Given the description of an element on the screen output the (x, y) to click on. 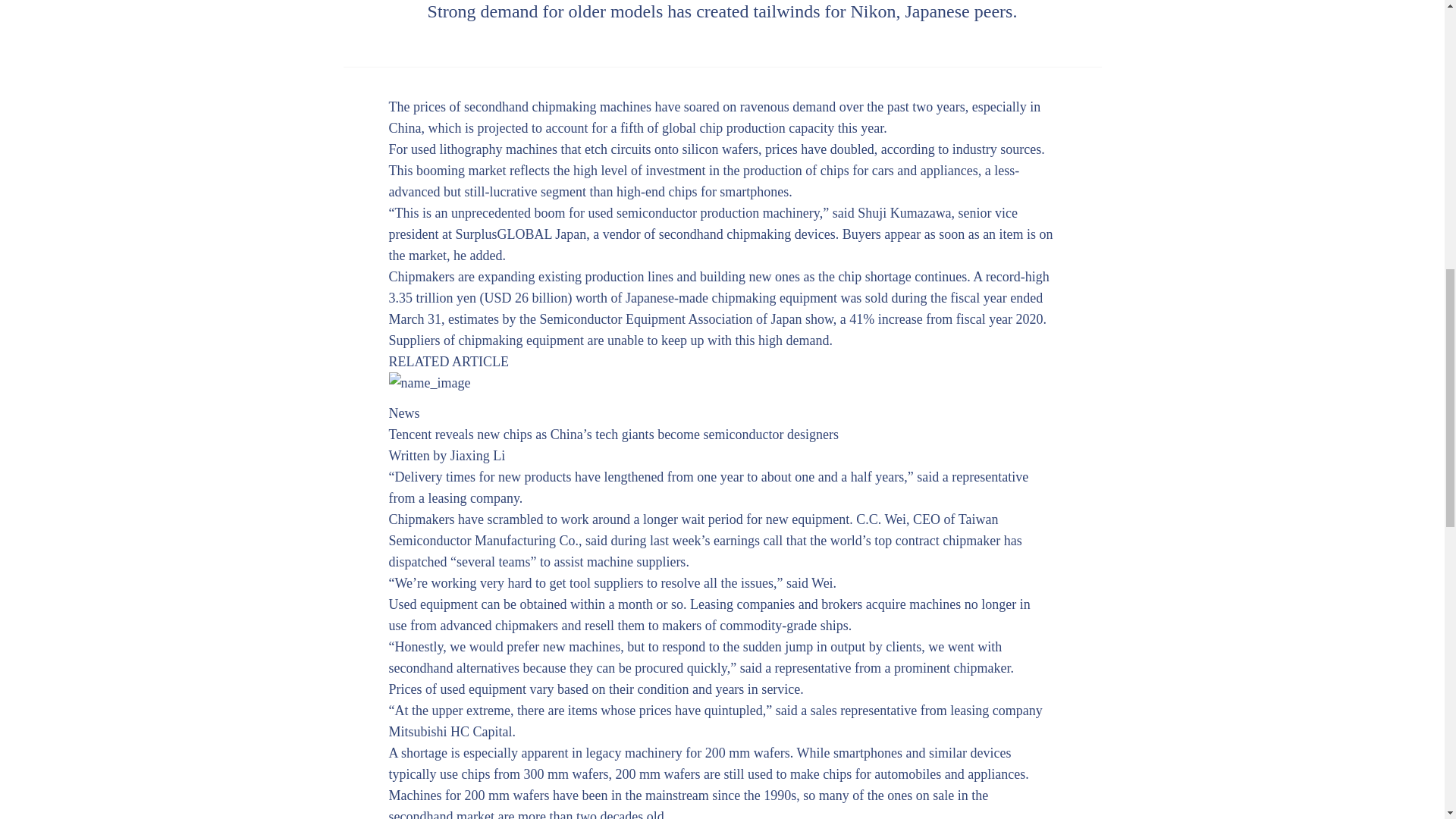
Jiaxing Li (477, 455)
News (403, 412)
